Given the description of an element on the screen output the (x, y) to click on. 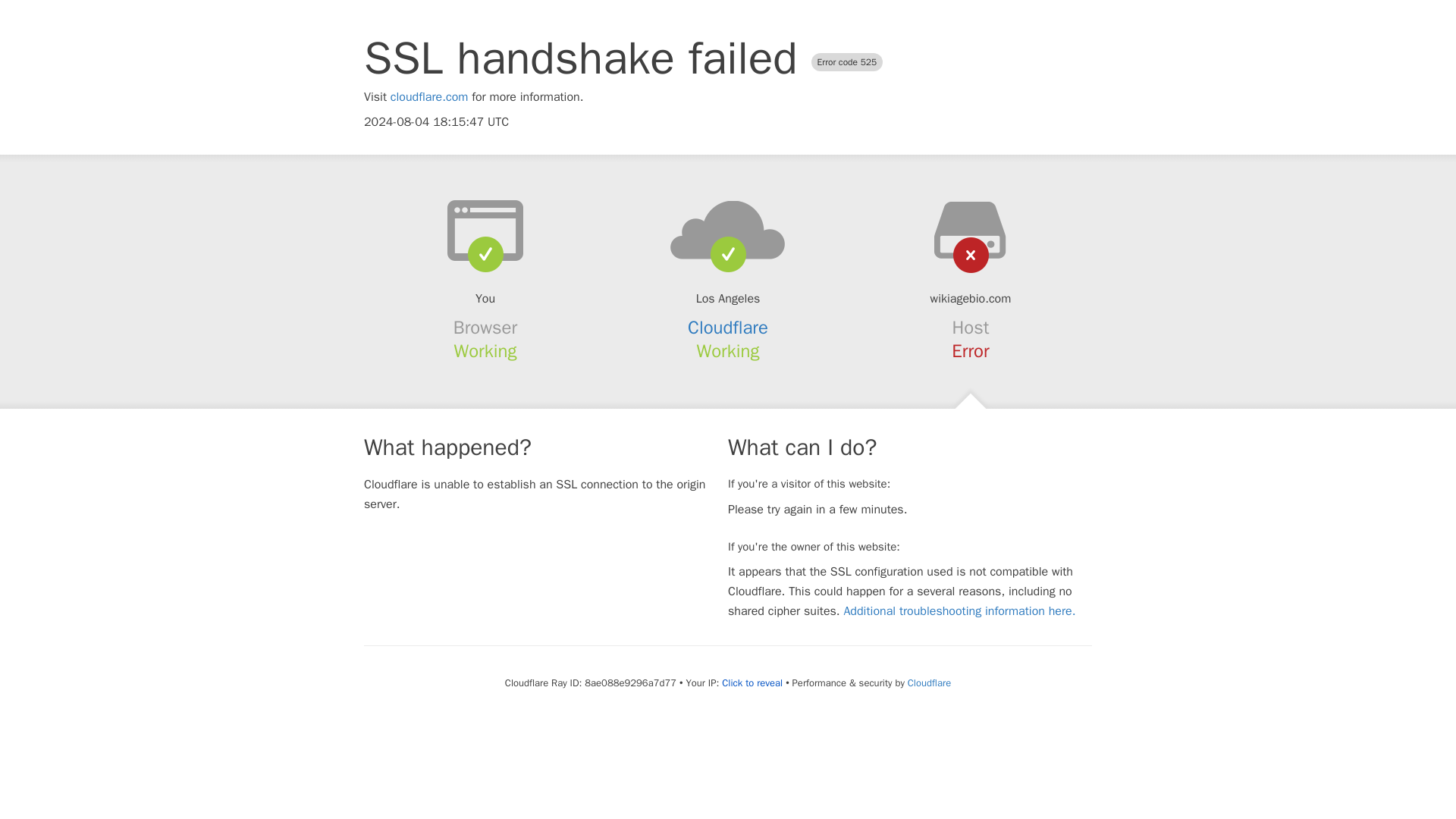
Click to reveal (752, 683)
Cloudflare (928, 682)
cloudflare.com (429, 96)
Cloudflare (727, 327)
Additional troubleshooting information here. (959, 611)
